Given the description of an element on the screen output the (x, y) to click on. 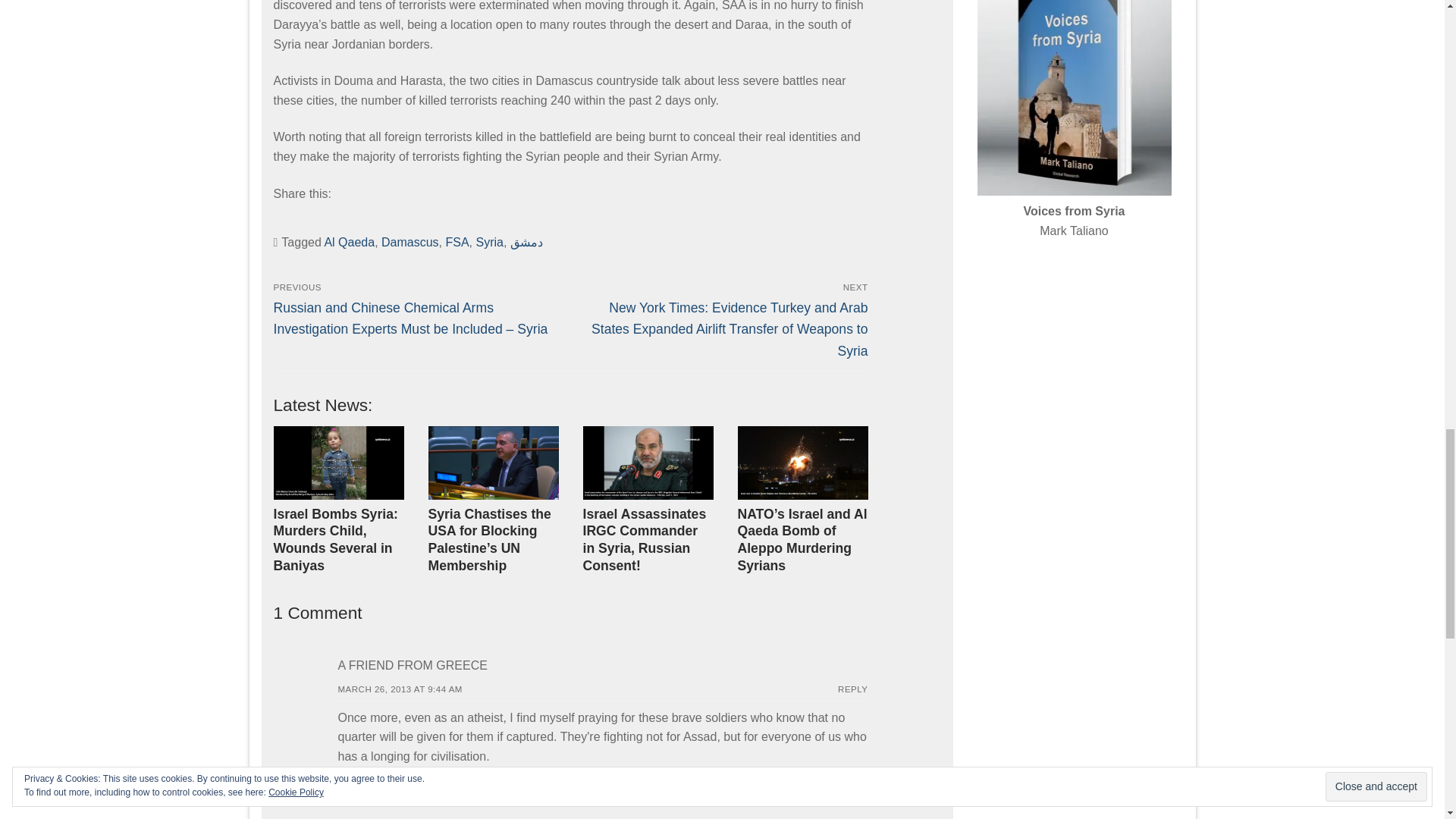
FSA (456, 241)
Al Qaeda (348, 241)
Syria (489, 241)
Damascus (410, 241)
Israel Bombs Syria: Murders Child, Wounds Several in Baniyas (335, 540)
